Given the description of an element on the screen output the (x, y) to click on. 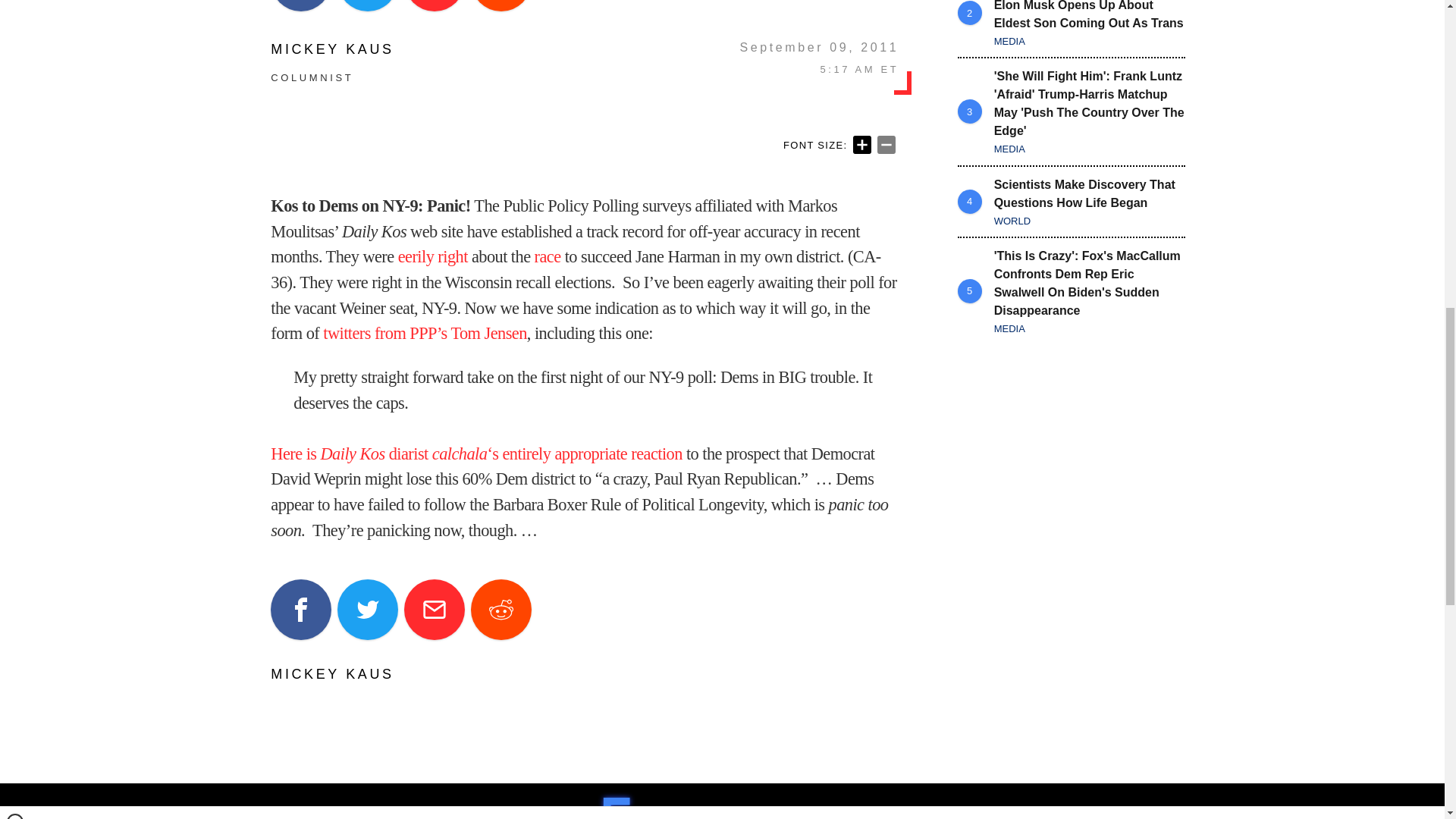
Close window (14, 6)
MICKEY KAUS (331, 49)
race (547, 256)
To home page (727, 804)
View More Articles By Mickey Kaus (331, 49)
eerily right (434, 256)
